Given the description of an element on the screen output the (x, y) to click on. 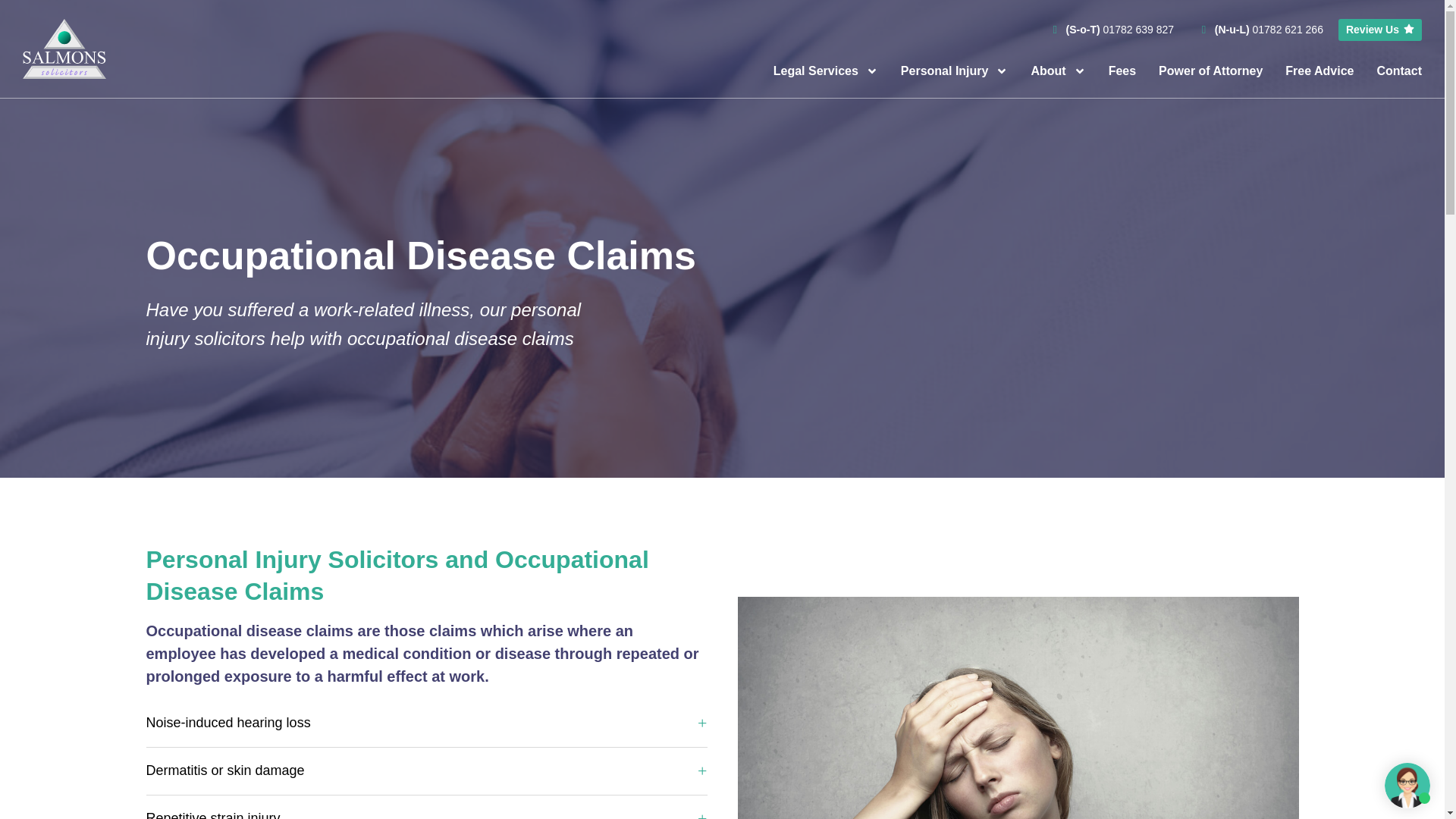
About (1057, 70)
Free Advice (1319, 70)
Review Us (1380, 29)
Power of Attorney (1210, 70)
Personal Injury (955, 70)
Fees (1121, 70)
Legal Services (825, 70)
Contact (1398, 70)
